Given the description of an element on the screen output the (x, y) to click on. 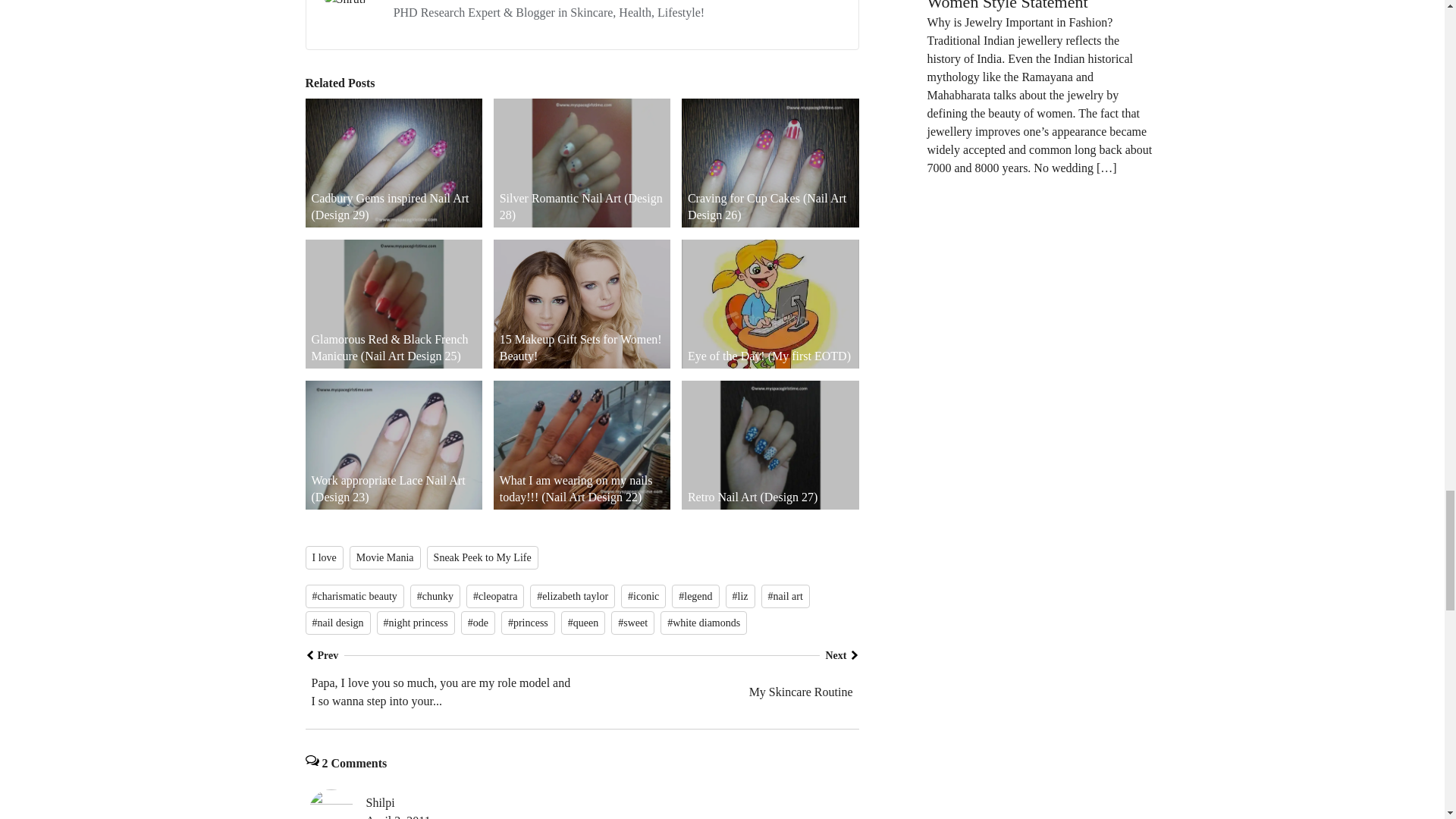
15 Makeup Gift Sets for Women! Beauty! (582, 303)
